Given the description of an element on the screen output the (x, y) to click on. 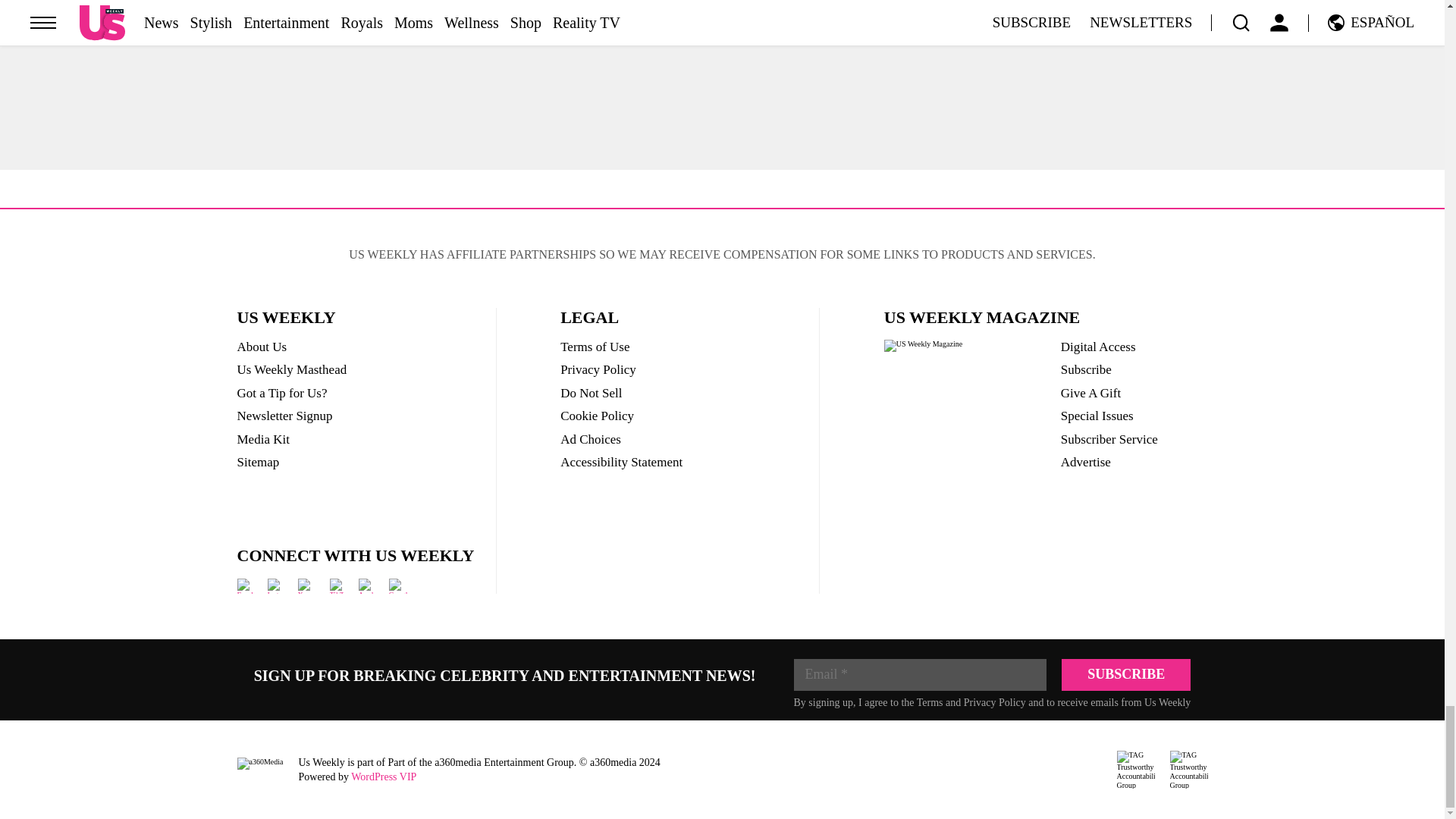
TAG Registered (1135, 769)
TAG Certified Against Fraud (1188, 769)
